Given the description of an element on the screen output the (x, y) to click on. 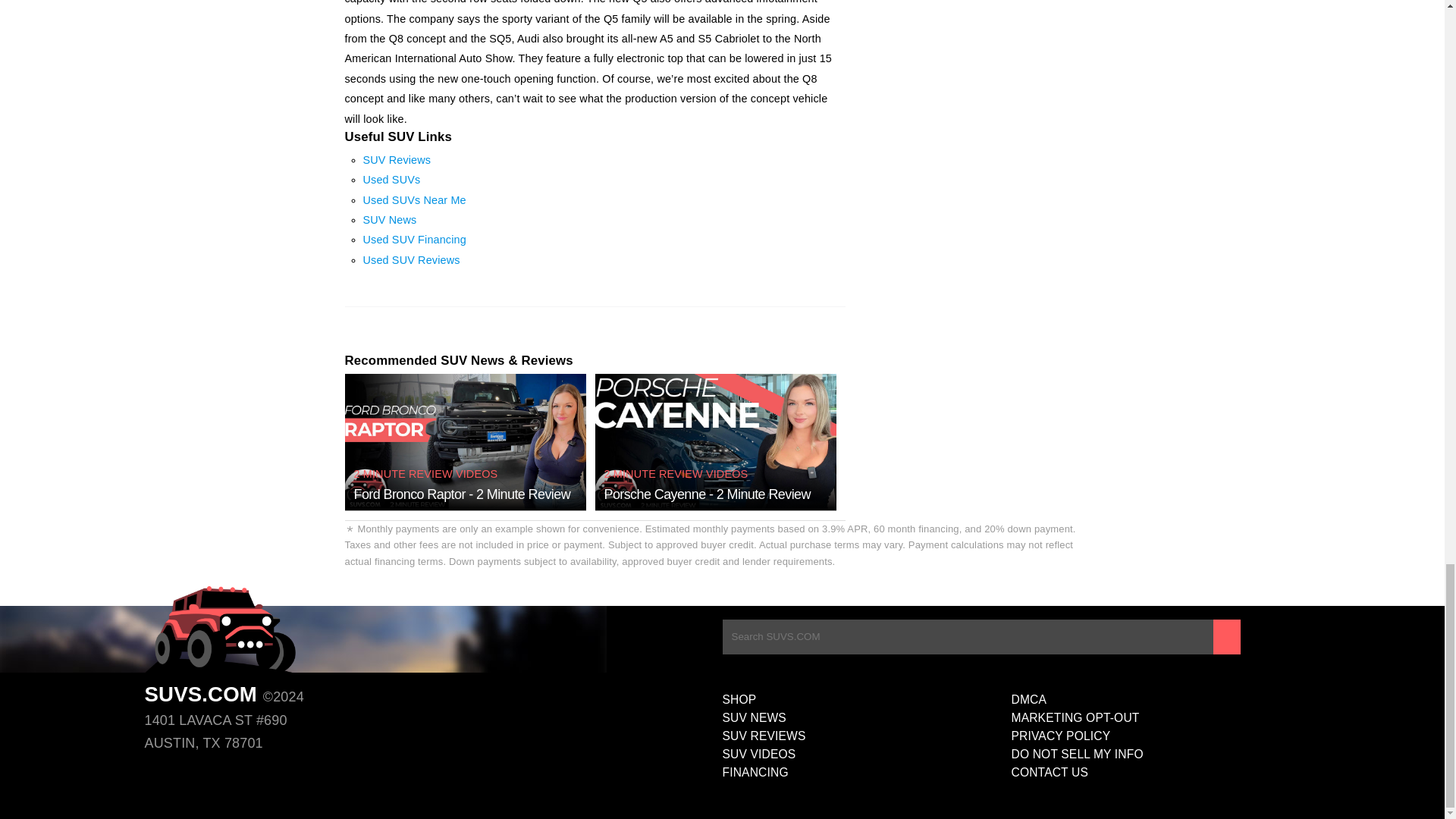
SUV News (389, 219)
SUV REVIEWS (866, 736)
CONTACT US (1155, 772)
SHOP (866, 700)
DMCA (1155, 700)
Porsche Cayenne - 2 Minute Review (706, 494)
Ford Bronco Raptor - 2 Minute Review (461, 494)
MARKETING OPT-OUT (1155, 718)
SUV VIDEOS (866, 754)
PRIVACY POLICY (1155, 736)
Used SUVs (391, 179)
DO NOT SELL MY INFO (1155, 754)
Used SUVs Near Me (413, 200)
Used SUV Financing (413, 239)
SUV news, reviews, and used cars for sale. (219, 629)
